Given the description of an element on the screen output the (x, y) to click on. 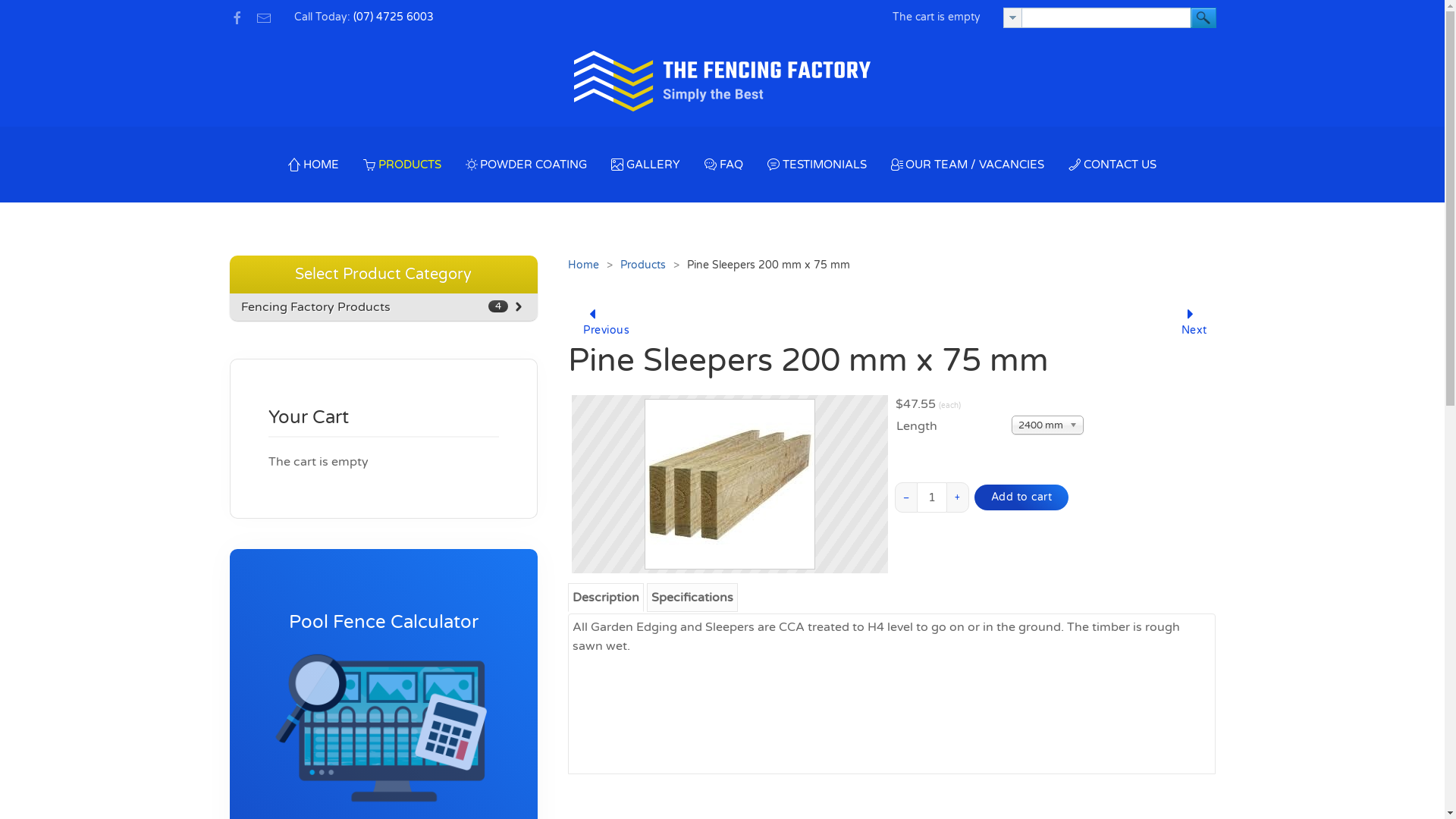
+ Element type: text (957, 497)
OUR TEAM / VACANCIES Element type: text (967, 164)
Pine Sleepers 200 mm x 75 mm x 2.4 metres Element type: hover (729, 483)
FAQ Element type: text (723, 164)
(07) 4725 6003 Element type: text (393, 16)
TESTIMONIALS Element type: text (816, 164)
GALLERY Element type: text (645, 164)
Next Element type: text (1190, 323)
Fencing Factory Products Element type: text (315, 306)
Products Element type: text (642, 264)
Add to cart Element type: text (1021, 497)
POWDER COATING Element type: text (526, 164)
Previous Element type: text (592, 323)
HOME Element type: text (313, 164)
Home Element type: text (583, 264)
PRODUCTS Element type: text (402, 164)
Pine Sleepers 200 mm x 75 mm x 2.4 metres Element type: hover (729, 483)
2400 mm Element type: text (1047, 424)
Pool Fence Calculator Element type: hover (382, 707)
Pool Fence Calculator Element type: text (383, 622)
CONTACT US Element type: text (1112, 164)
